Given the description of an element on the screen output the (x, y) to click on. 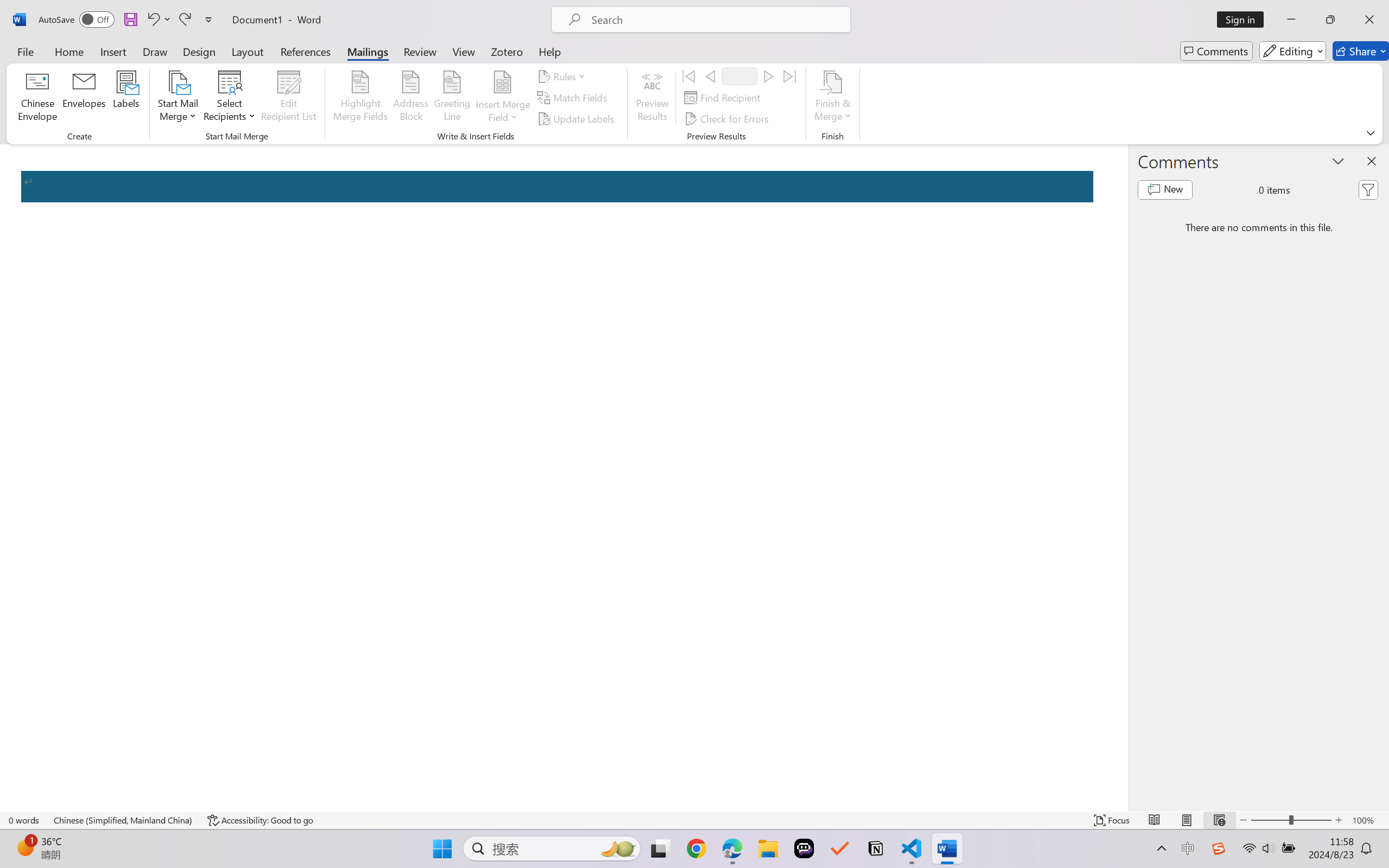
Filter (1367, 189)
Chinese Envelope... (37, 97)
Highlight Merge Fields (360, 97)
Previous (709, 75)
Redo Apply Quick Style (184, 19)
Envelopes... (84, 97)
Address Block... (410, 97)
